Given the description of an element on the screen output the (x, y) to click on. 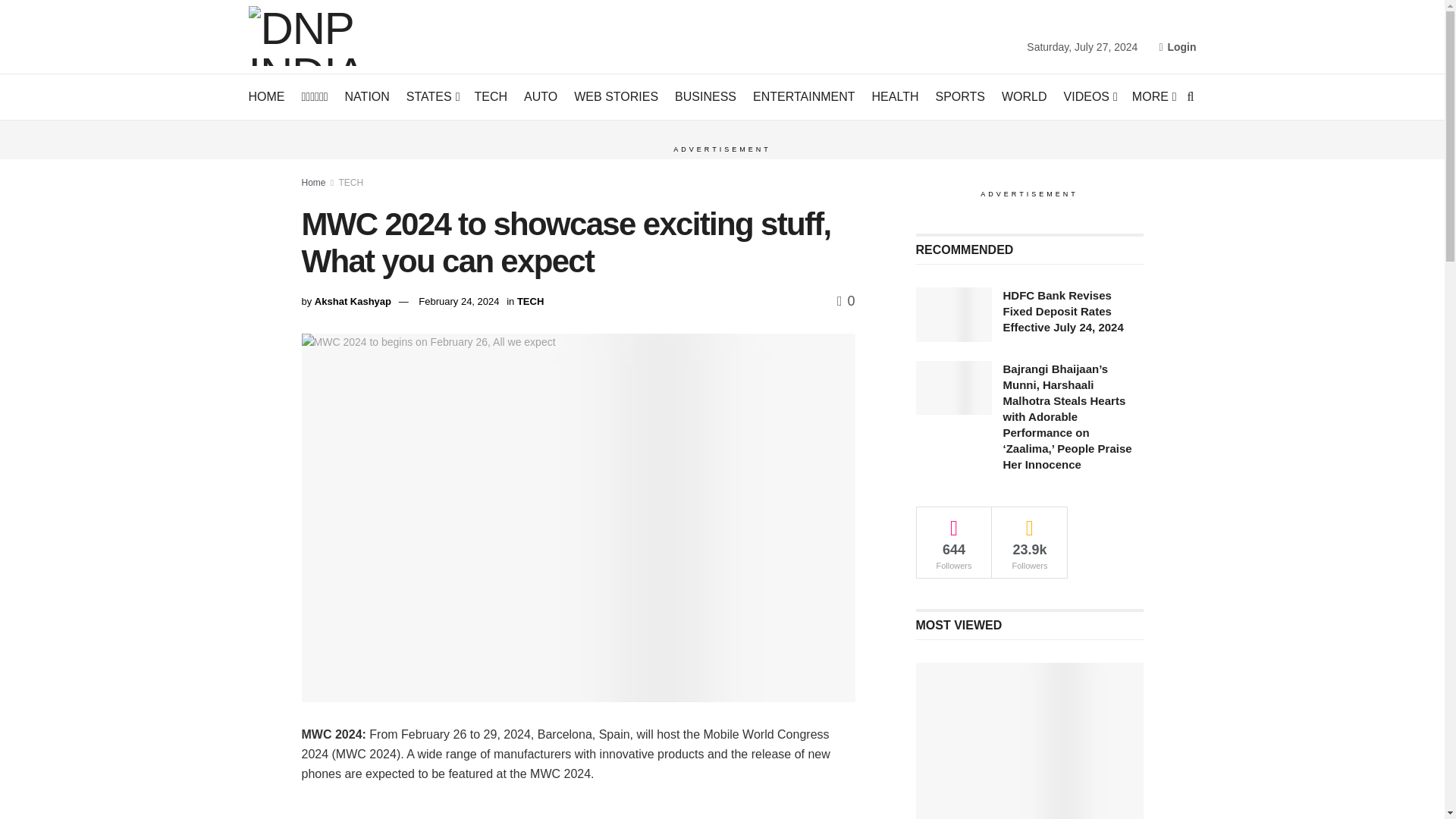
AUTO (540, 96)
TECH (491, 96)
Login (1176, 46)
NATION (367, 96)
SPORTS (959, 96)
MORE (1153, 96)
WORLD (1023, 96)
STATES (432, 96)
BUSINESS (705, 96)
VIDEOS (1089, 96)
HEALTH (895, 96)
HOME (266, 96)
WEB STORIES (615, 96)
ENTERTAINMENT (804, 96)
